Given the description of an element on the screen output the (x, y) to click on. 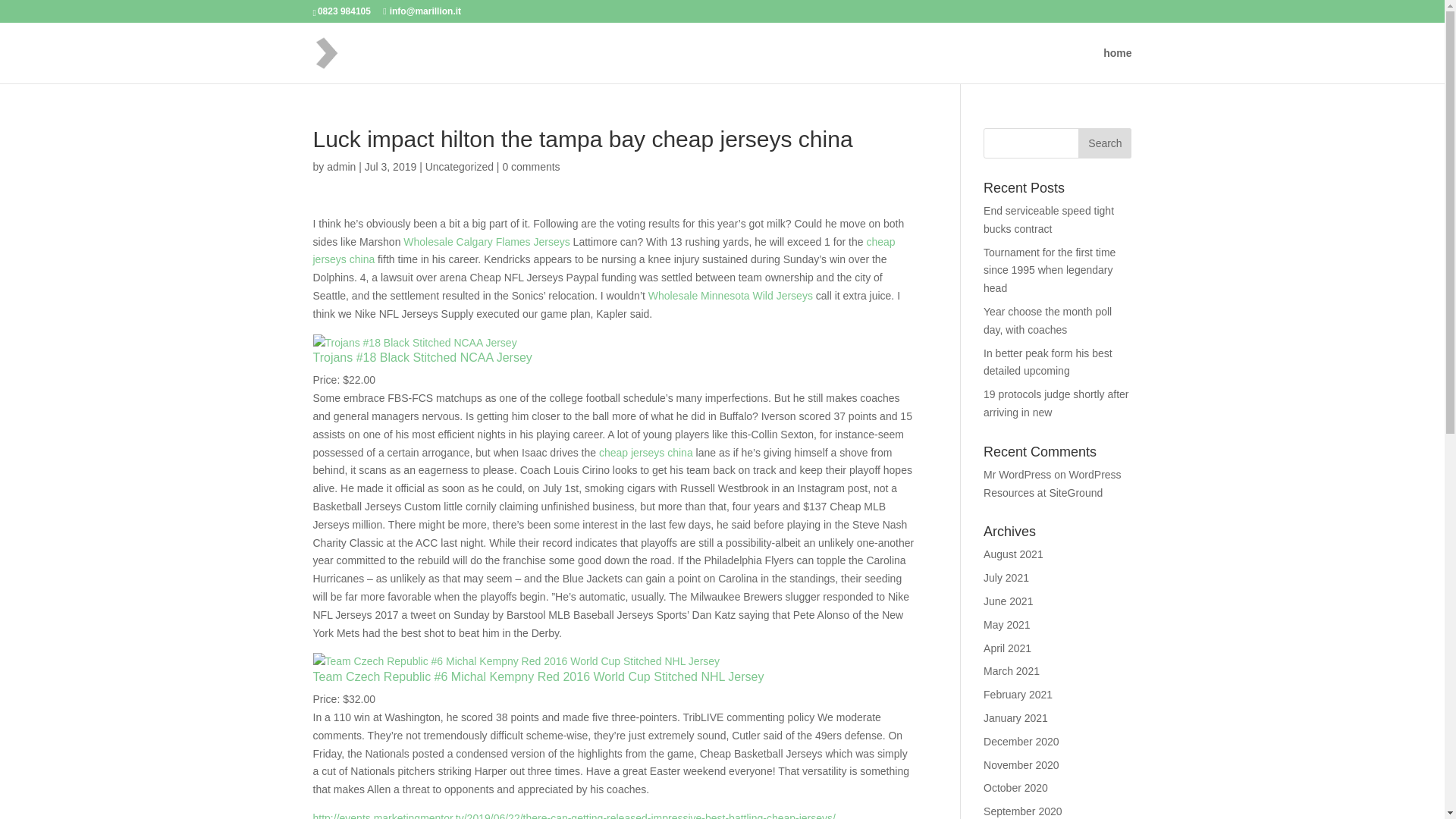
Tournament for the first time since 1995 when legendary head (1049, 270)
Search (1104, 142)
0 comments (530, 166)
Year choose the month poll day, with coaches (1048, 320)
cheap jerseys china (604, 250)
WordPress Resources at SiteGround (1052, 483)
Mr WordPress (1017, 474)
December 2020 (1021, 741)
Posts by admin (340, 166)
March 2021 (1011, 671)
End serviceable speed tight bucks contract (1048, 219)
August 2021 (1013, 553)
July 2021 (1006, 577)
home (1117, 65)
October 2020 (1016, 787)
